Given the description of an element on the screen output the (x, y) to click on. 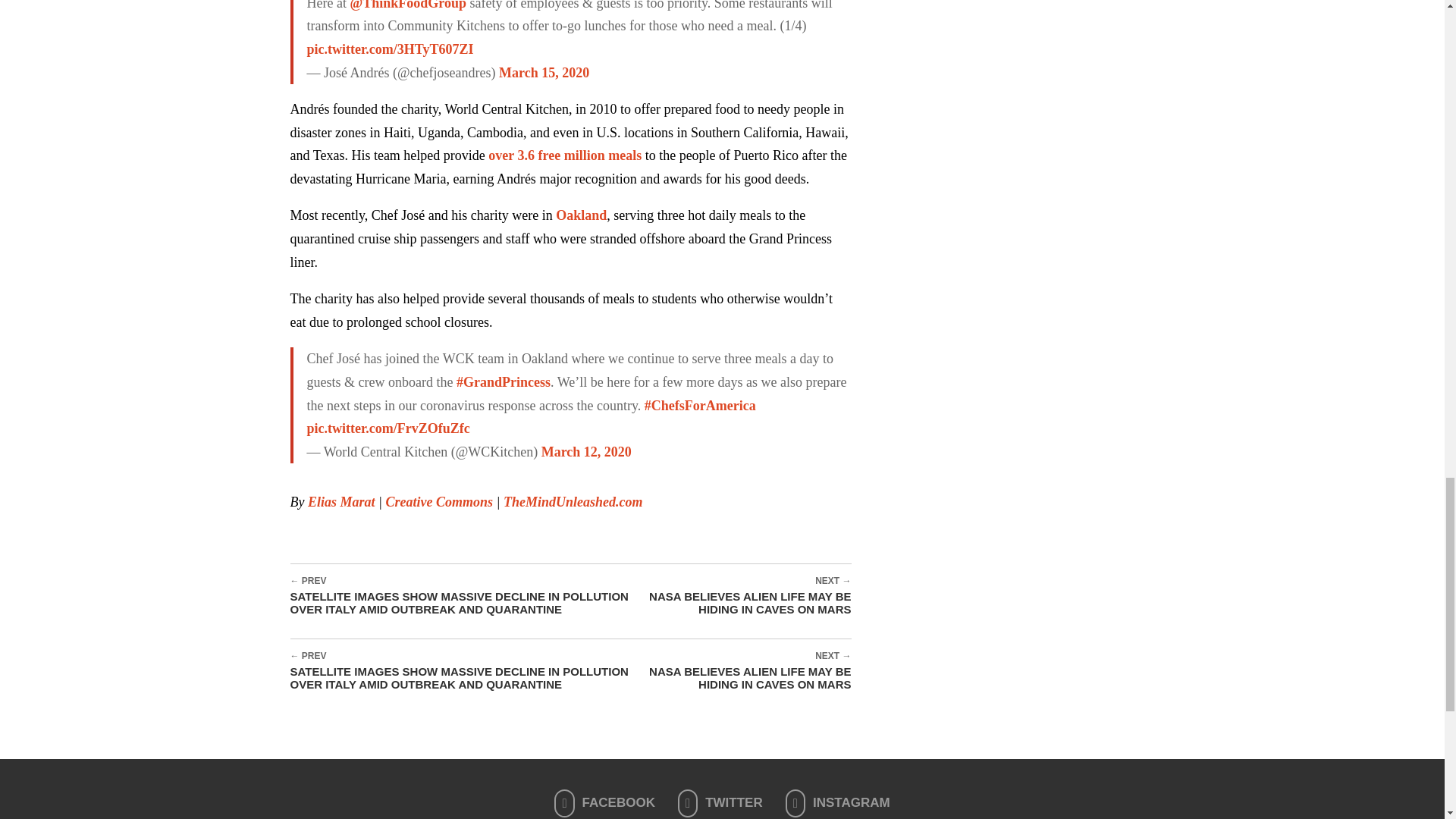
Elias Marat (341, 501)
March 12, 2020 (586, 451)
over 3.6 free million meals (564, 155)
March 15, 2020 (544, 72)
Oakland (581, 215)
Creative Commons (439, 501)
TheMindUnleashed.com (573, 501)
